Given the description of an element on the screen output the (x, y) to click on. 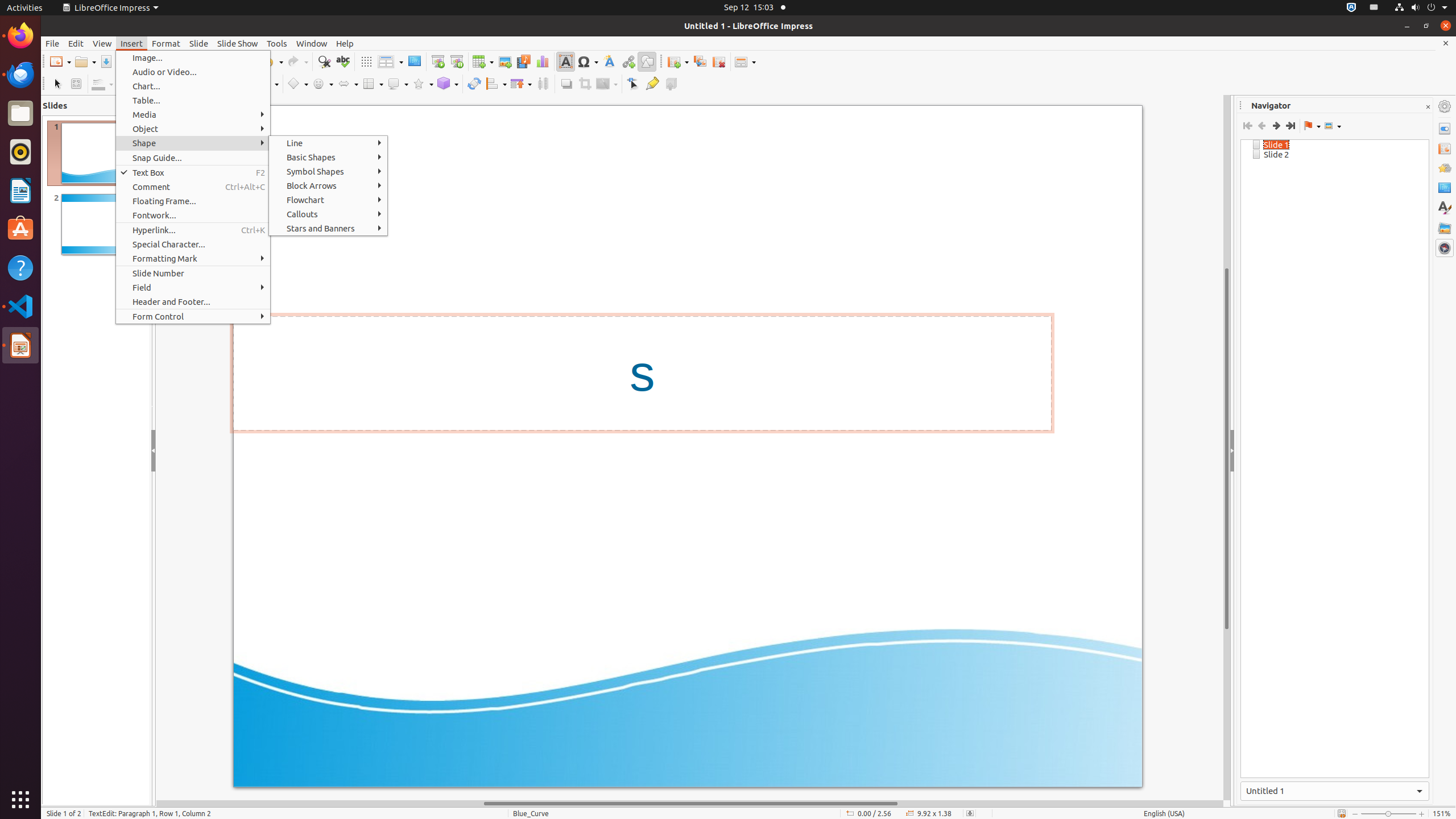
Files Element type: push-button (20, 113)
Last Slide Element type: push-button (1290, 125)
Table... Element type: menu-item (193, 100)
Media Element type: menu (193, 114)
